Given the description of an element on the screen output the (x, y) to click on. 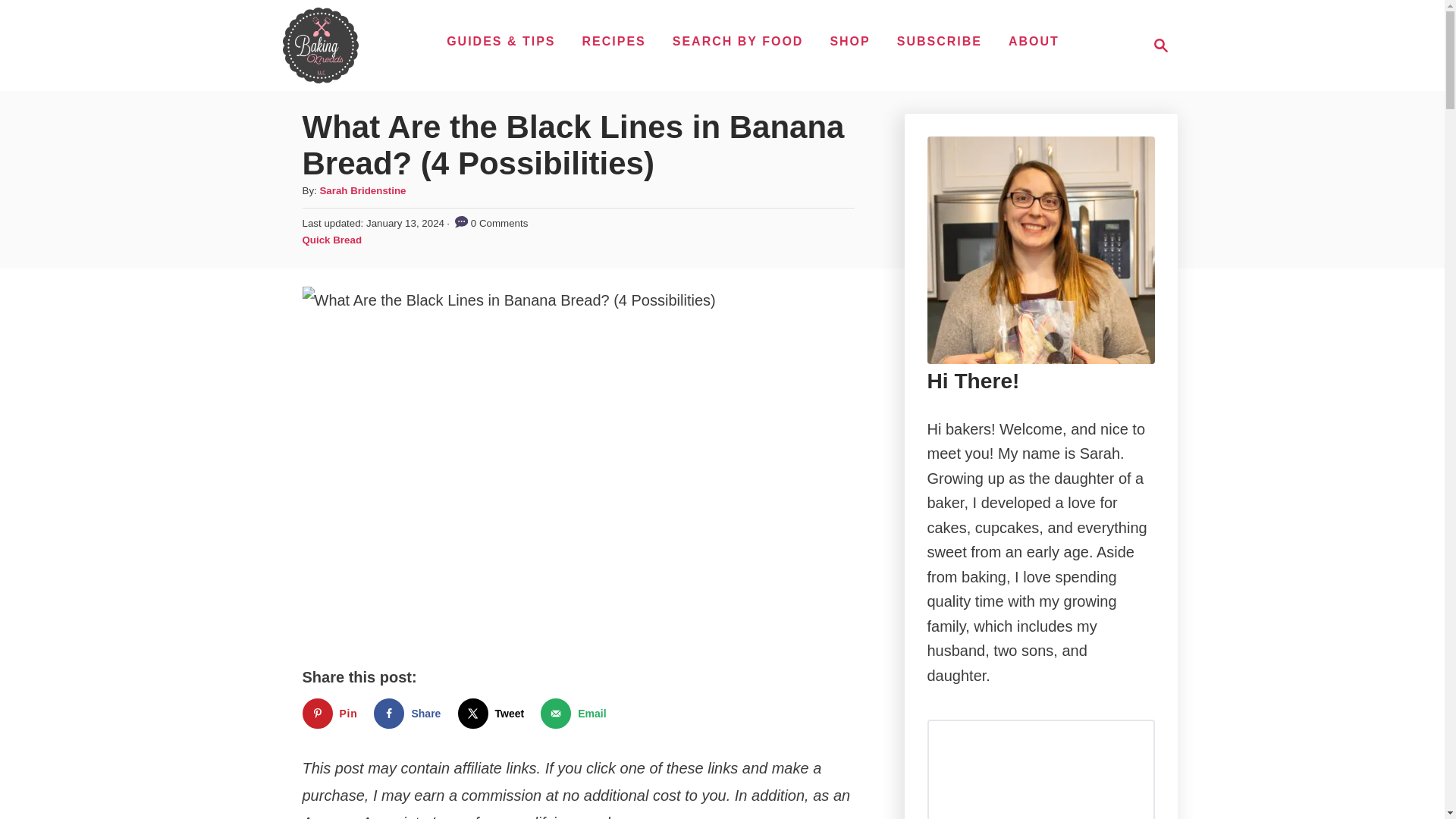
Sarah Bridenstine (362, 190)
Save to Pinterest (332, 713)
SHOP (849, 41)
SUBSCRIBE (1155, 45)
Email (939, 41)
Quick Bread (576, 713)
Share on X (331, 239)
Magnifying Glass (494, 713)
Baking Kneads, LLC (1160, 45)
Share on Facebook (320, 45)
Send over email (410, 713)
Tweet (576, 713)
RECIPES (494, 713)
ABOUT (614, 41)
